Given the description of an element on the screen output the (x, y) to click on. 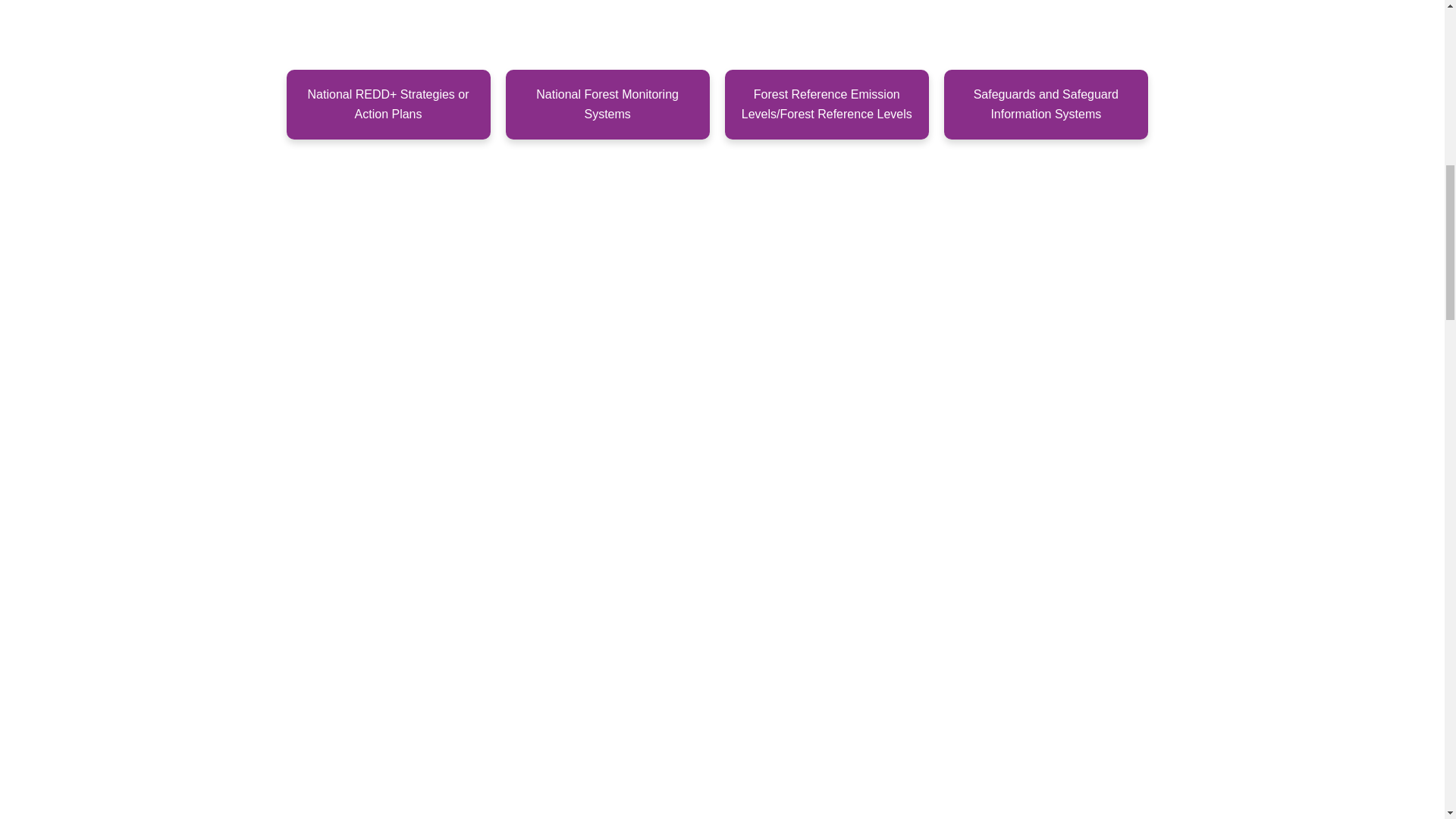
National Forest Monitoring Systems (607, 104)
Safeguards and Safeguard Information Systems (1045, 104)
